Given the description of an element on the screen output the (x, y) to click on. 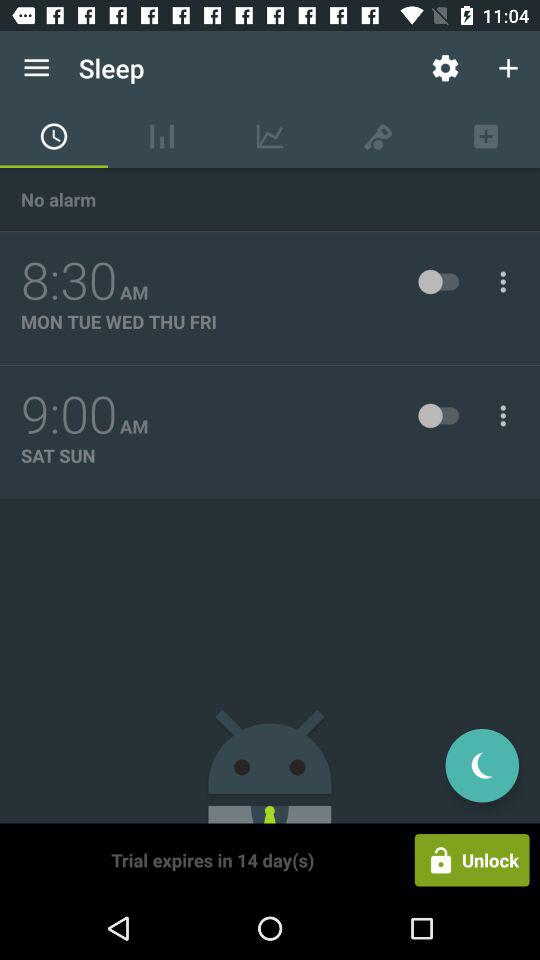
click the 8:30 (69, 281)
